Given the description of an element on the screen output the (x, y) to click on. 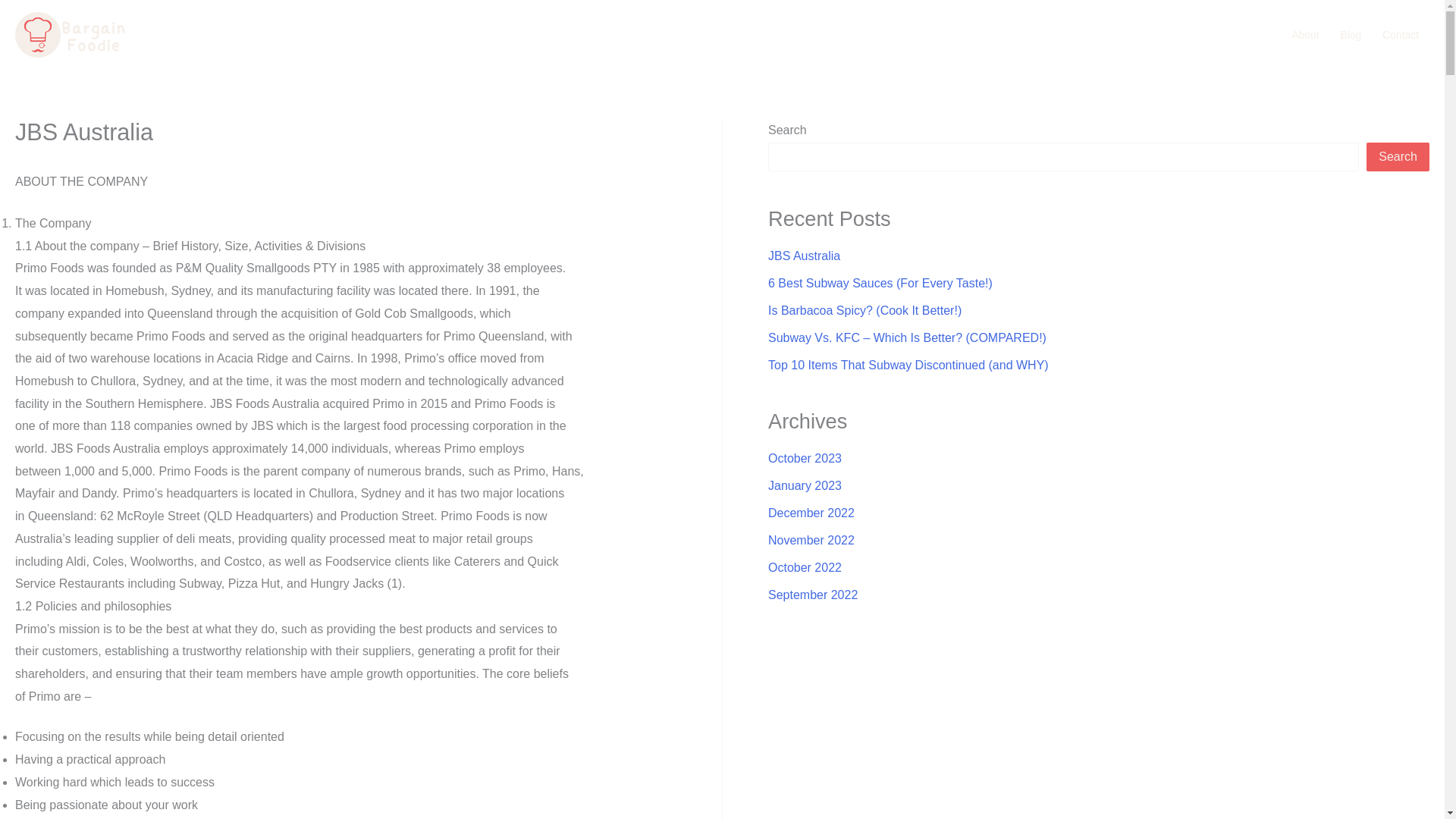
Search (1398, 156)
September 2022 (812, 594)
November 2022 (811, 540)
JBS Australia (804, 255)
October 2023 (804, 458)
December 2022 (811, 512)
January 2023 (804, 485)
October 2022 (804, 567)
Contact (1400, 34)
